Given the description of an element on the screen output the (x, y) to click on. 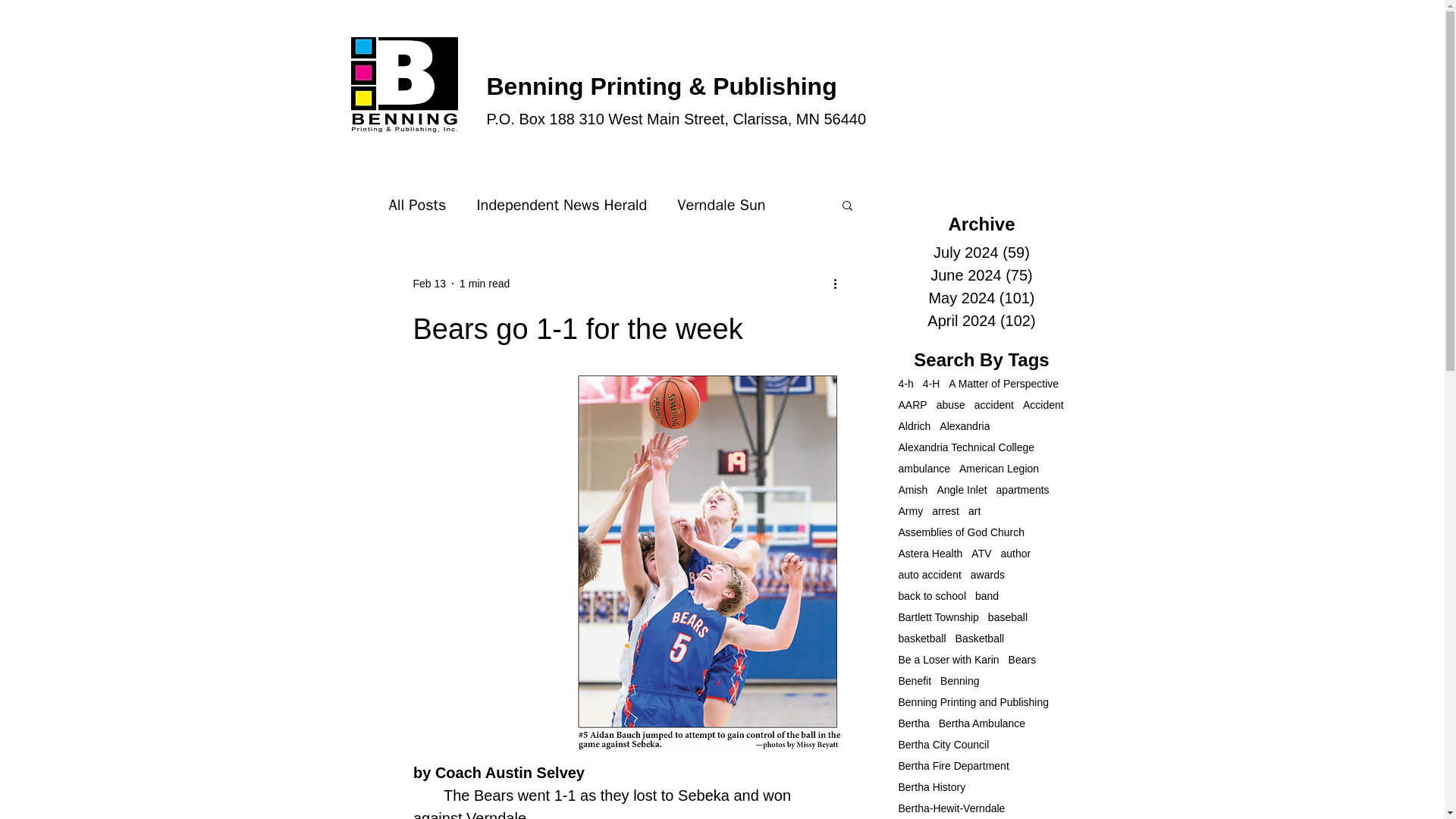
Aldrich (914, 426)
Feb 13 (428, 283)
Independent News Herald (561, 204)
A Matter of Perspective (1003, 383)
Verndale Sun (721, 204)
Alexandria (964, 426)
abuse (950, 404)
All Posts (416, 204)
American Legion (999, 468)
4-h (905, 383)
1 min read (484, 283)
P.O. Box 188 310 West Main Street, Clarissa, MN 56440 (676, 118)
Alexandria Technical College (965, 447)
Archive (980, 223)
BPP.jpg (448, 85)
